Given the description of an element on the screen output the (x, y) to click on. 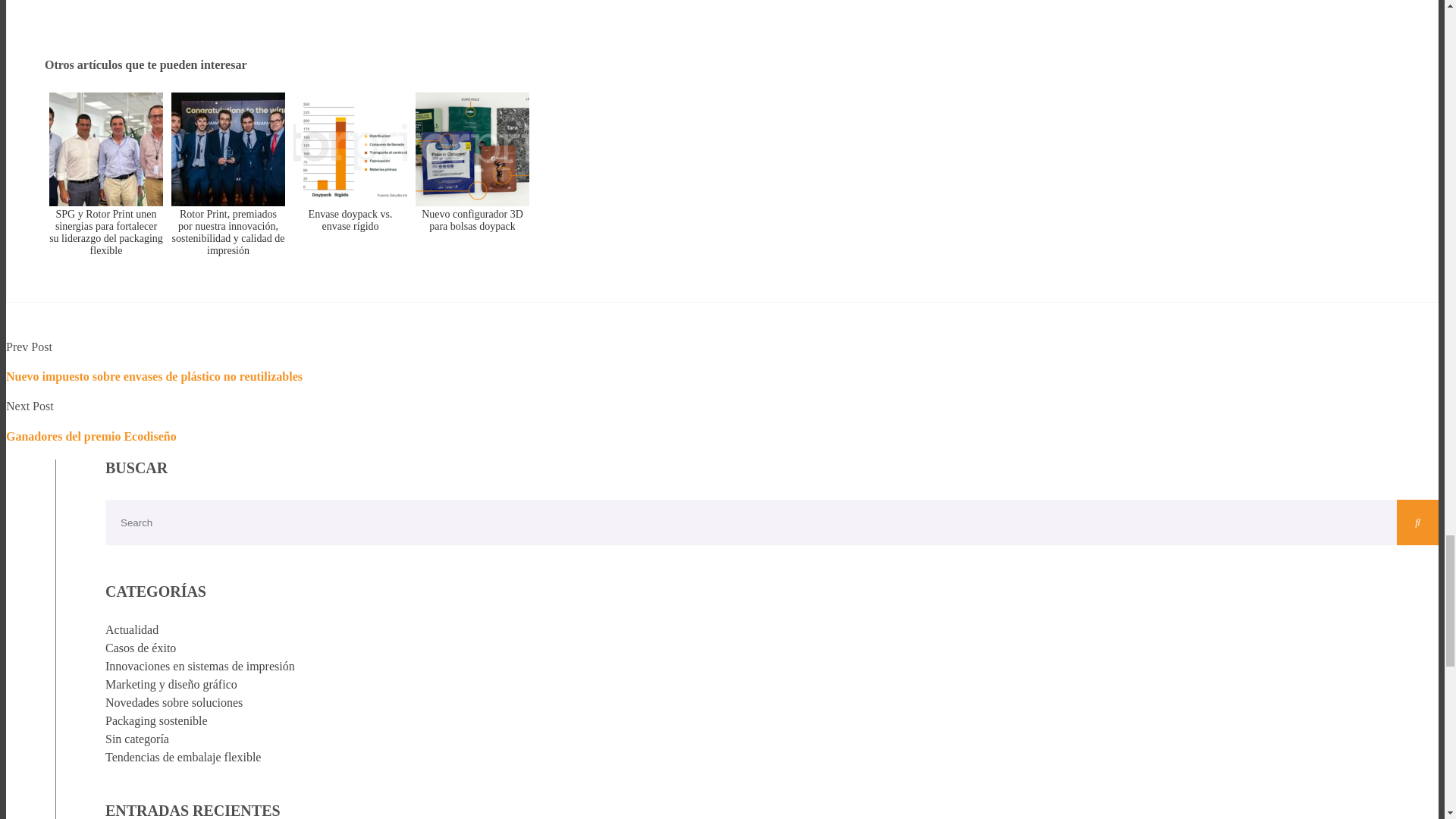
Form 0 (722, 18)
Novedades sobre soluciones (173, 702)
Tendencias de embalaje flexible (182, 757)
Packaging sostenible (156, 720)
Actualidad (131, 629)
